Given the description of an element on the screen output the (x, y) to click on. 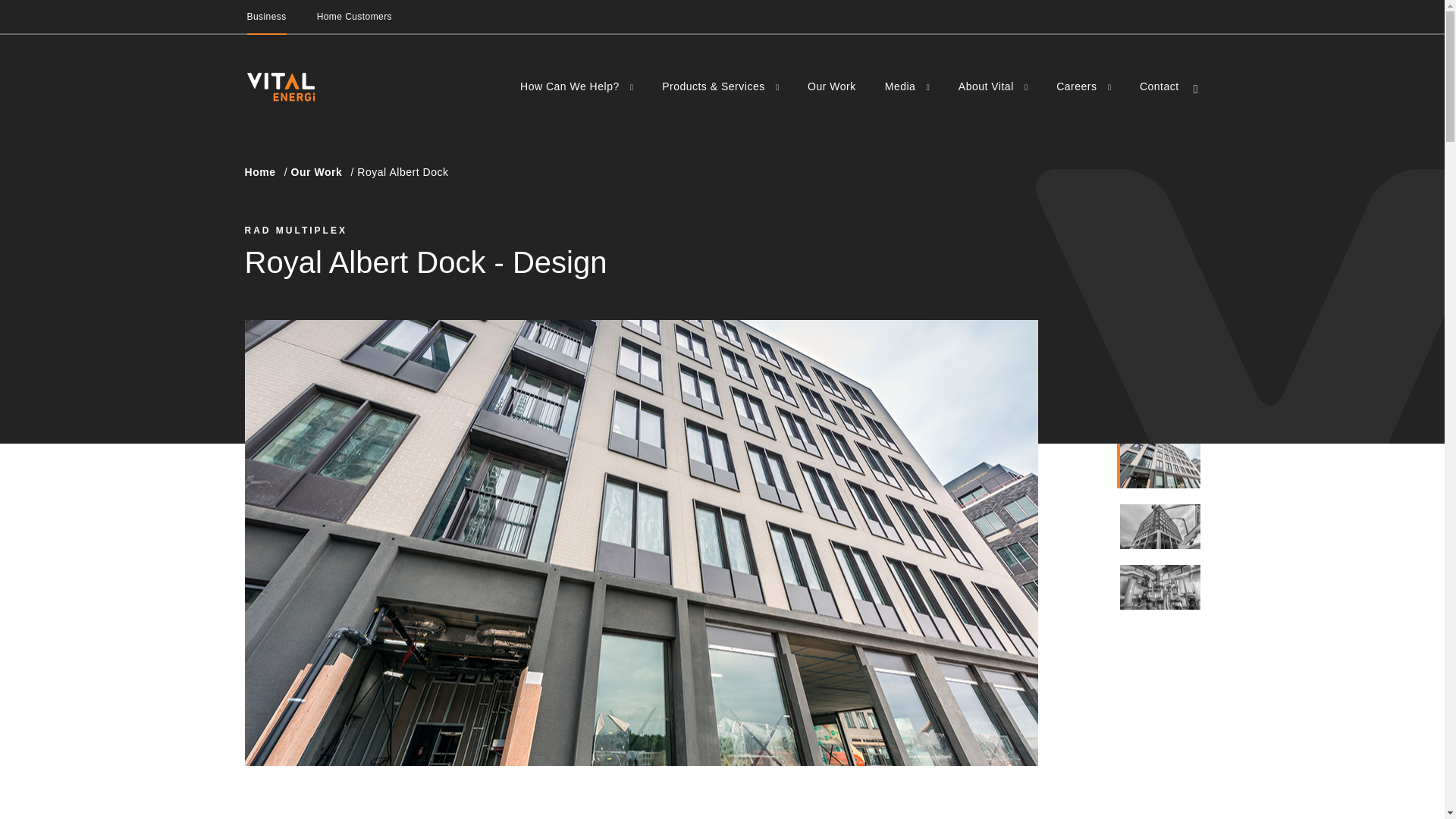
Home Customers (354, 23)
Business (266, 23)
How Can We Help? (571, 86)
